Given the description of an element on the screen output the (x, y) to click on. 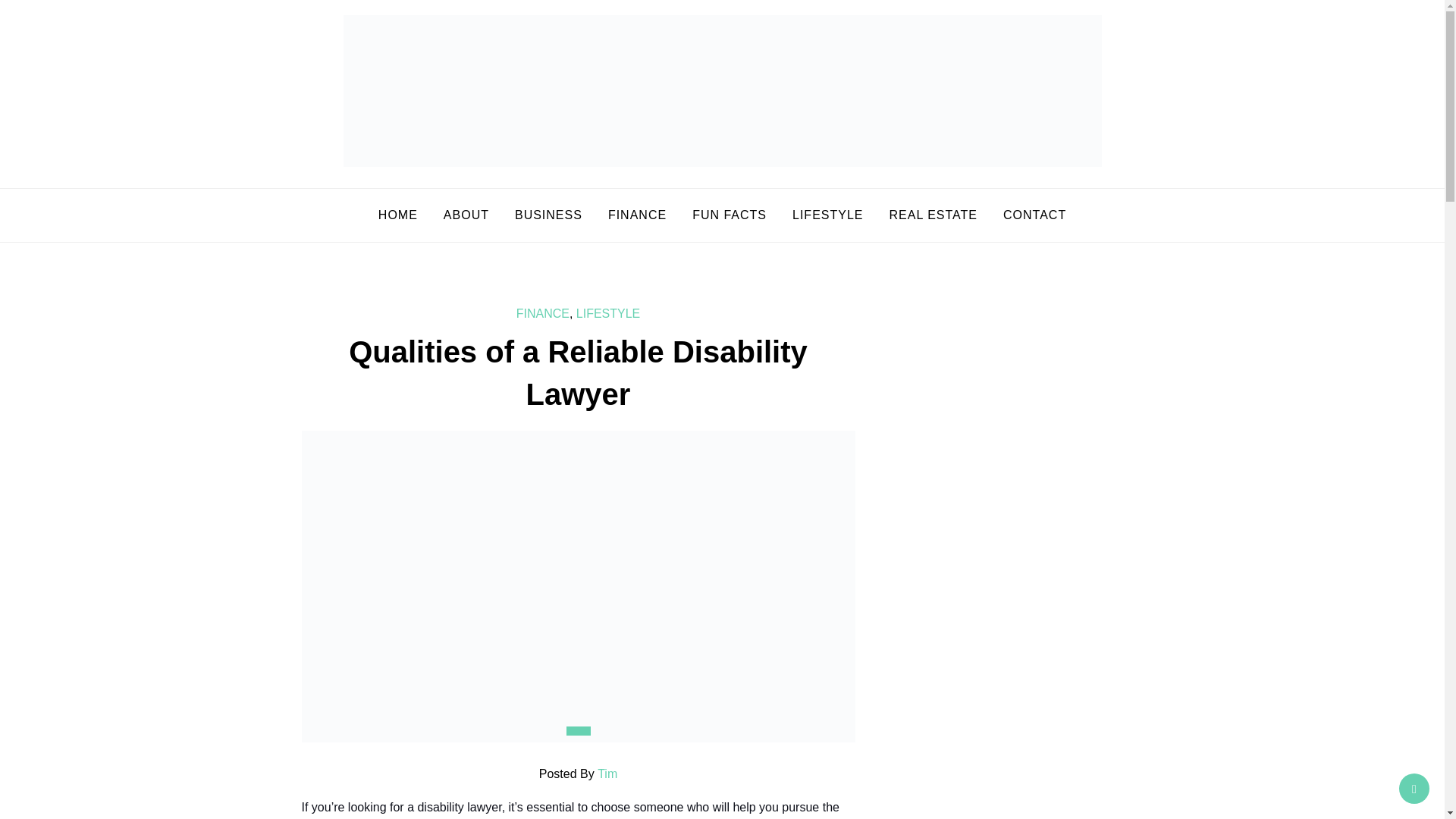
CONTACT (1034, 215)
FINANCE (637, 215)
FUN FACTS (728, 215)
FACT MINT (430, 212)
FINANCE (542, 313)
Posted By Tim (577, 773)
Qualities of a Reliable Disability Lawyer (578, 372)
ABOUT (466, 215)
LIFESTYLE (608, 313)
BUSINESS (548, 215)
